Given the description of an element on the screen output the (x, y) to click on. 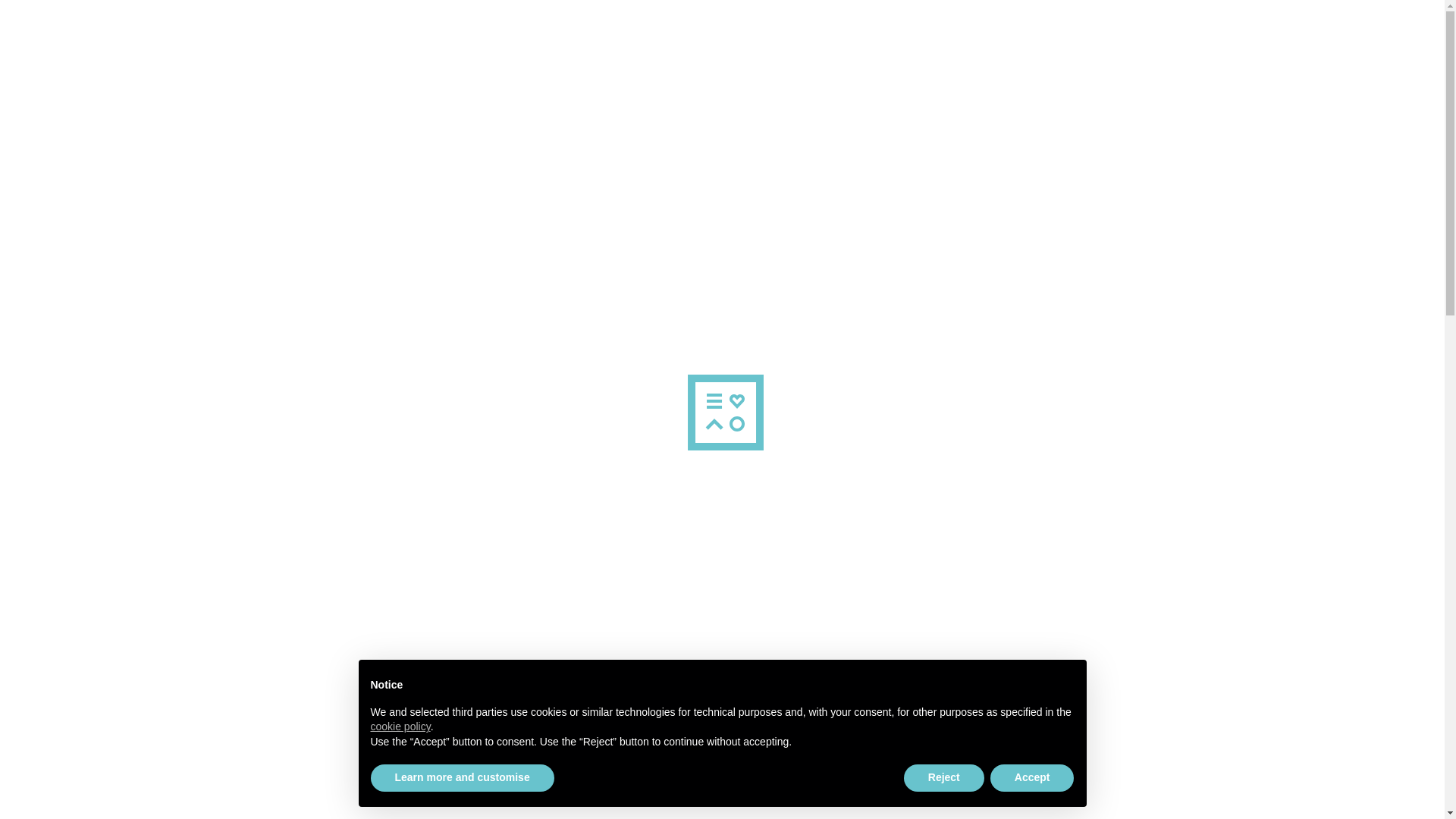
Facebook (314, 811)
ITA (1137, 112)
Facebook (314, 811)
